Given the description of an element on the screen output the (x, y) to click on. 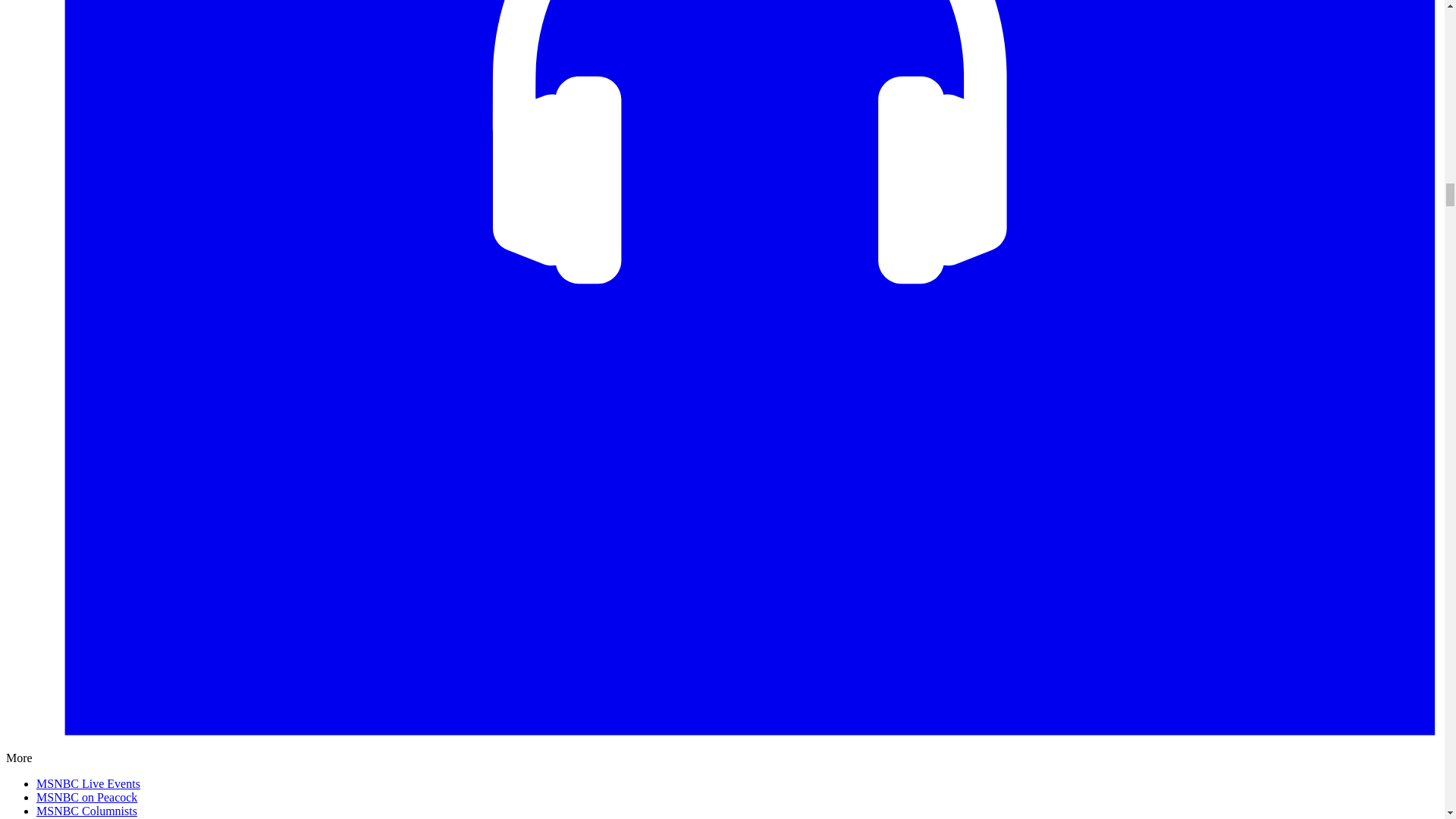
MSNBC on Peacock (86, 797)
MSNBC Live Events (87, 783)
